Given the description of an element on the screen output the (x, y) to click on. 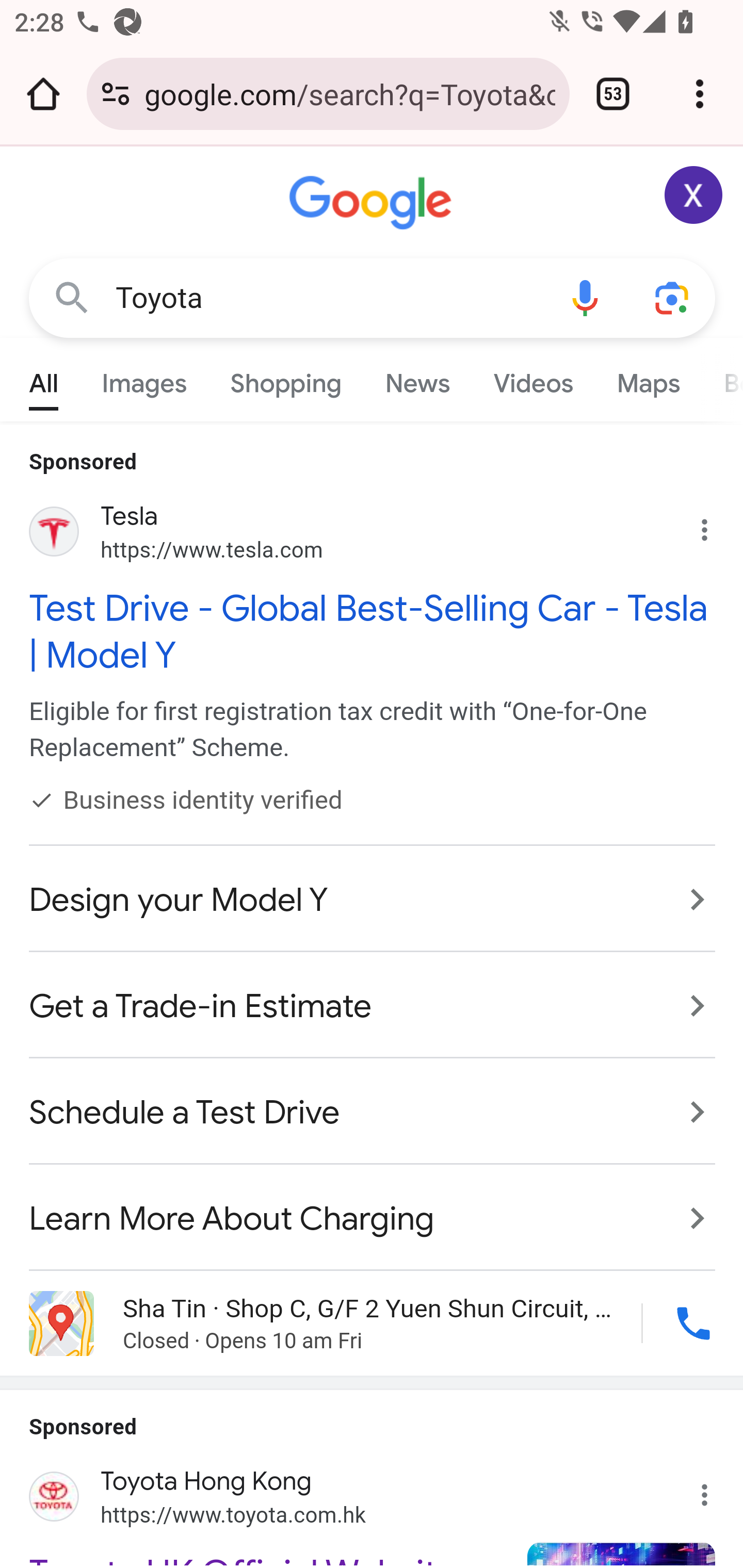
Open the home page (43, 93)
Connection is secure (115, 93)
Switch or close tabs (612, 93)
Customize and control Google Chrome (699, 93)
Google (372, 203)
Google Account: Xiaoran (zxrappiumtest@gmail.com) (694, 195)
Google Search (71, 296)
Search using your camera or photos (672, 296)
Toyota (328, 297)
Images (144, 378)
Shopping (285, 378)
News (417, 378)
Videos (533, 378)
Maps (647, 378)
Why this ad? (714, 525)
Design your Model Y (372, 899)
Get a Trade-in Estimate (372, 1006)
Schedule a Test Drive (372, 1112)
Learn More About Charging (372, 1208)
Why this ad? (714, 1488)
